Given the description of an element on the screen output the (x, y) to click on. 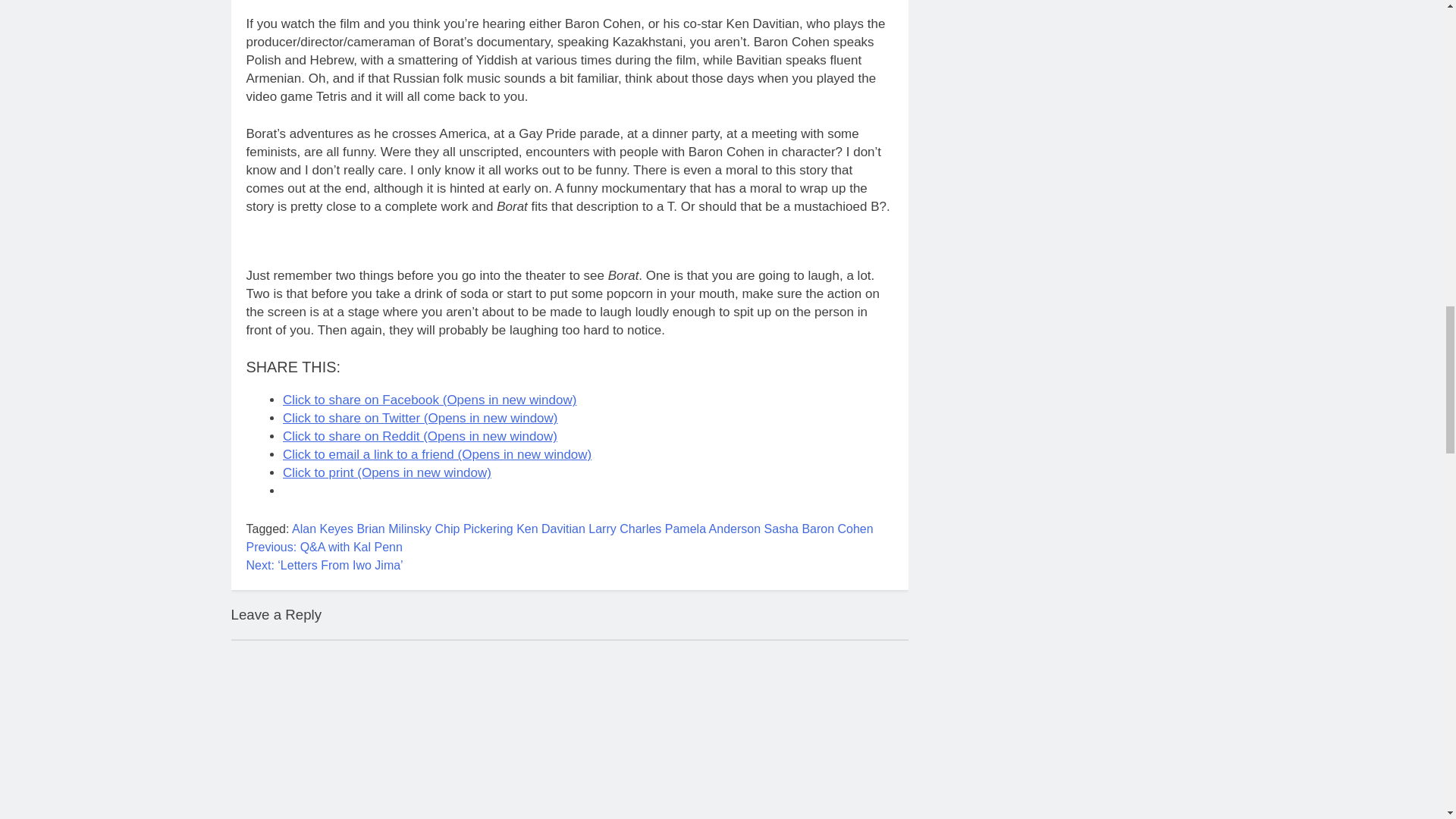
Brian Milinsky (393, 528)
Click to print (387, 472)
Click to email a link to a friend (436, 454)
Alan Keyes (322, 528)
Chip Pickering (474, 528)
Click to share on Facebook (429, 400)
Comment Form (568, 729)
Click to share on Twitter (419, 418)
Click to share on Reddit (419, 436)
